Given the description of an element on the screen output the (x, y) to click on. 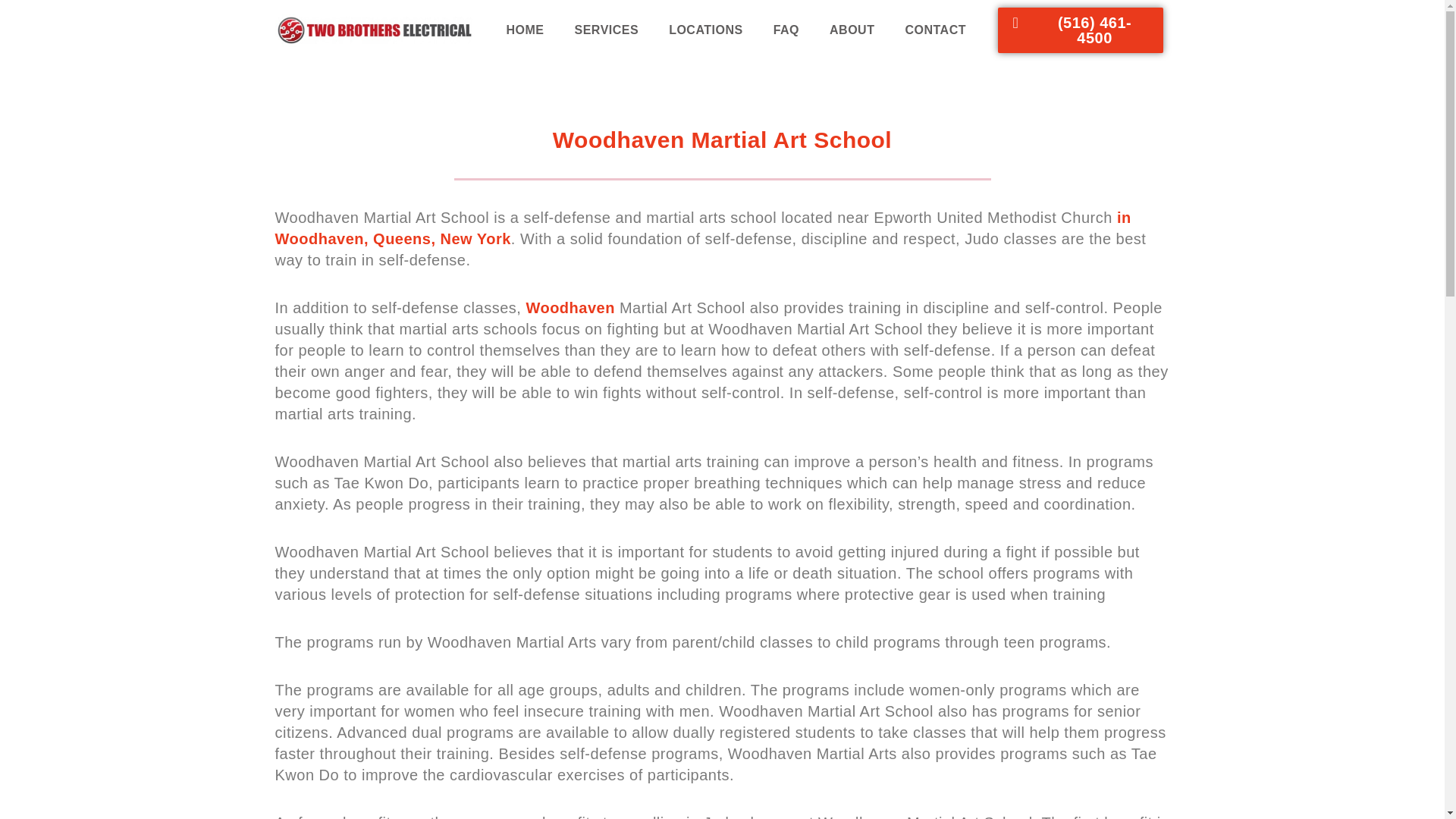
FAQ (785, 30)
LOCATIONS (705, 30)
ABOUT (851, 30)
SERVICES (606, 30)
HOME (525, 30)
CONTACT (935, 30)
